Given the description of an element on the screen output the (x, y) to click on. 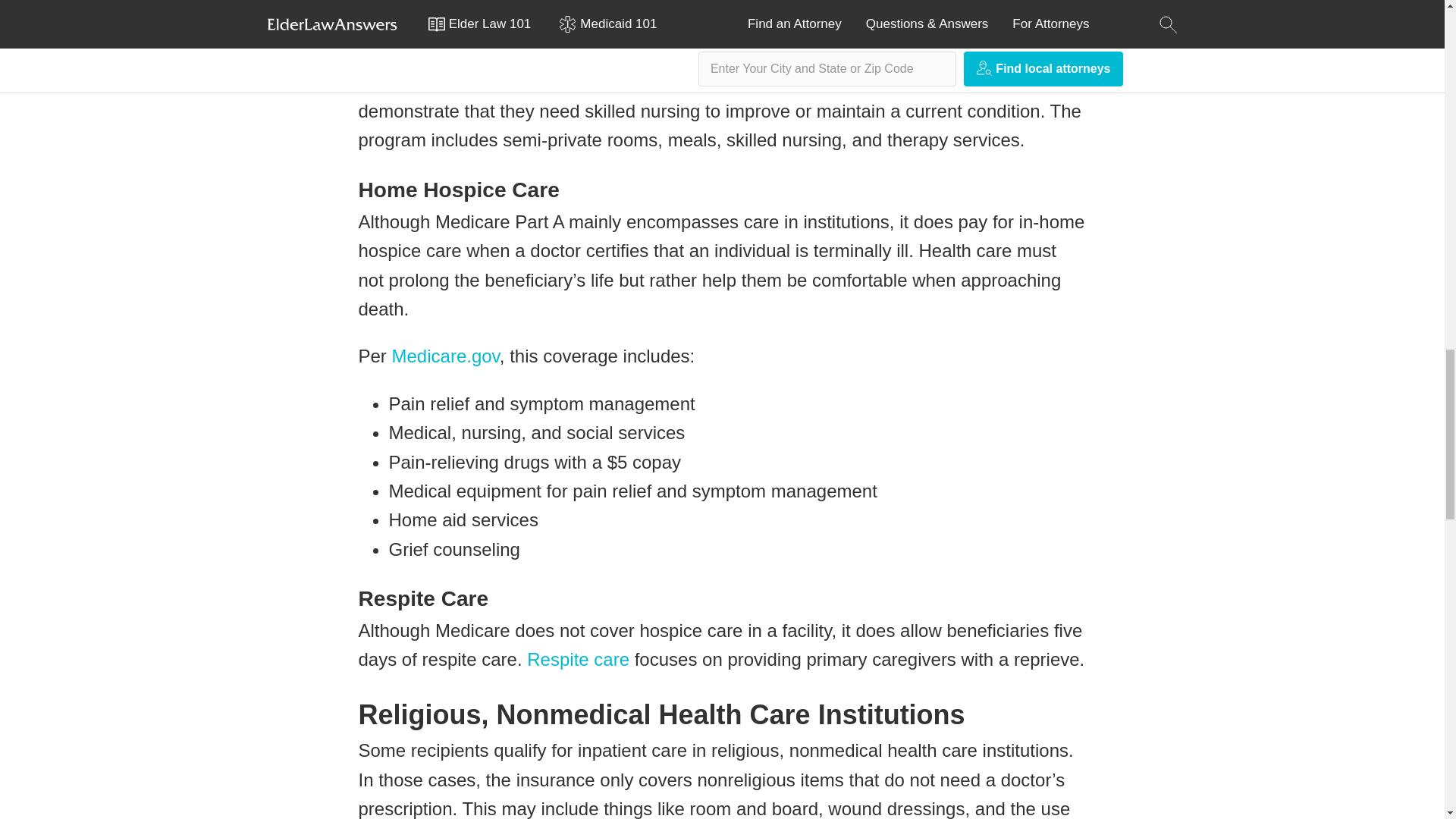
Respite care (577, 659)
Medicare.gov (445, 355)
